Given the description of an element on the screen output the (x, y) to click on. 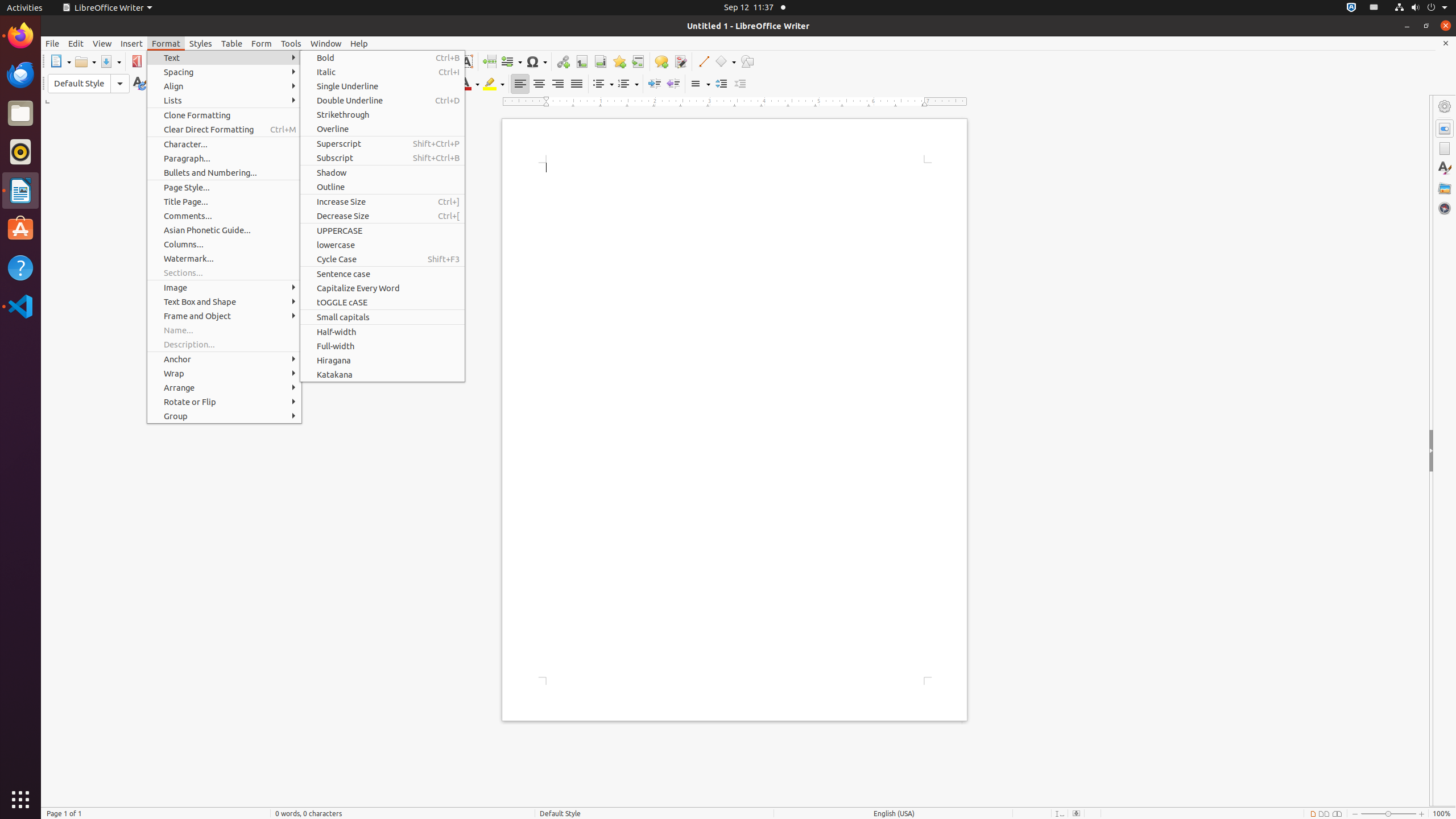
Full-width Element type: menu-item (382, 345)
Paragraph... Element type: menu-item (224, 158)
Format Element type: menu (165, 43)
Sections... Element type: menu-item (224, 272)
Superscript Element type: toggle-button (399, 83)
